Given the description of an element on the screen output the (x, y) to click on. 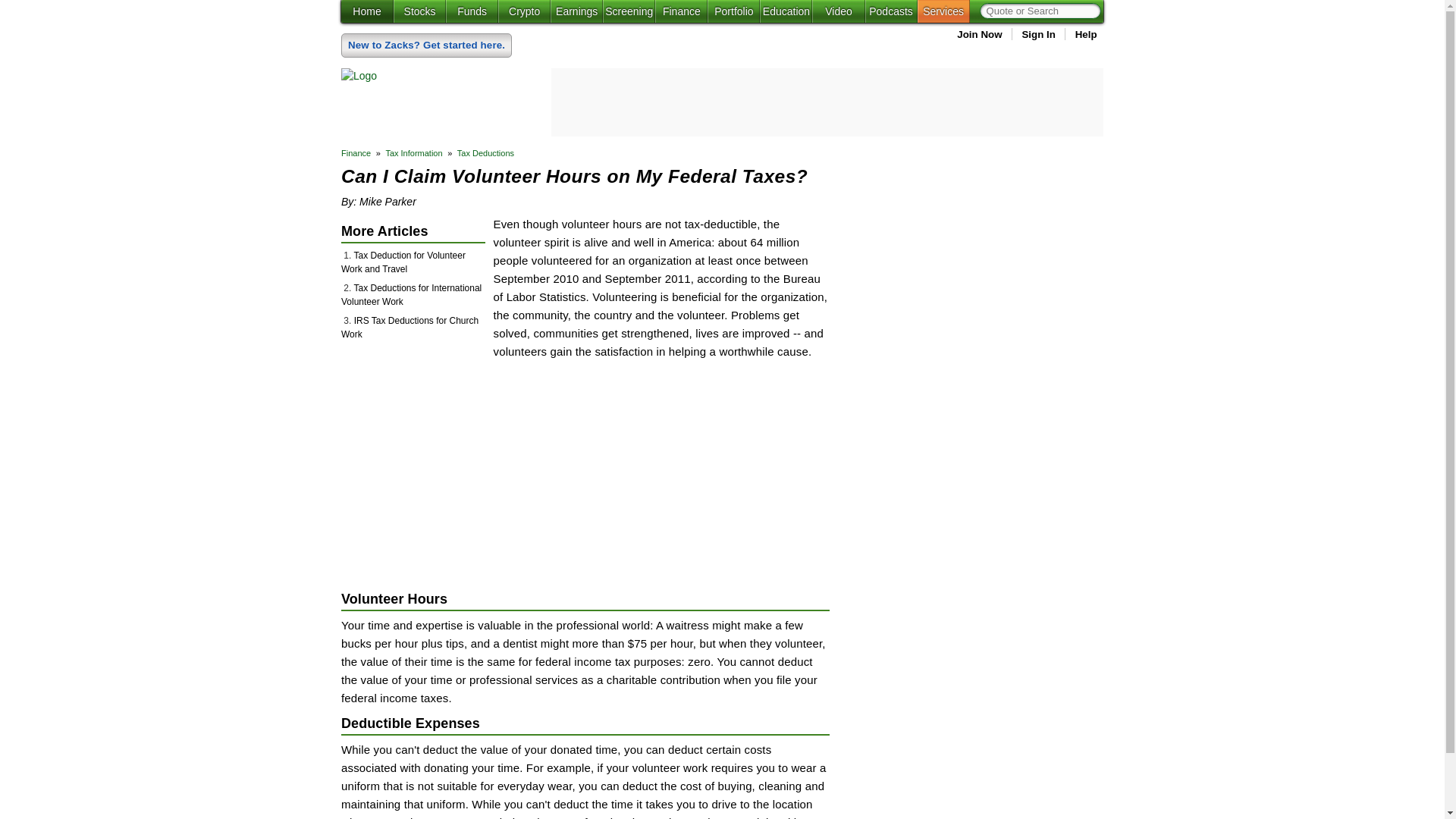
Finance (681, 11)
Home (366, 11)
Portfolio (733, 11)
Screening (628, 11)
Crypto (523, 11)
Stocks (419, 11)
Funds (471, 11)
Earnings (576, 11)
